Given the description of an element on the screen output the (x, y) to click on. 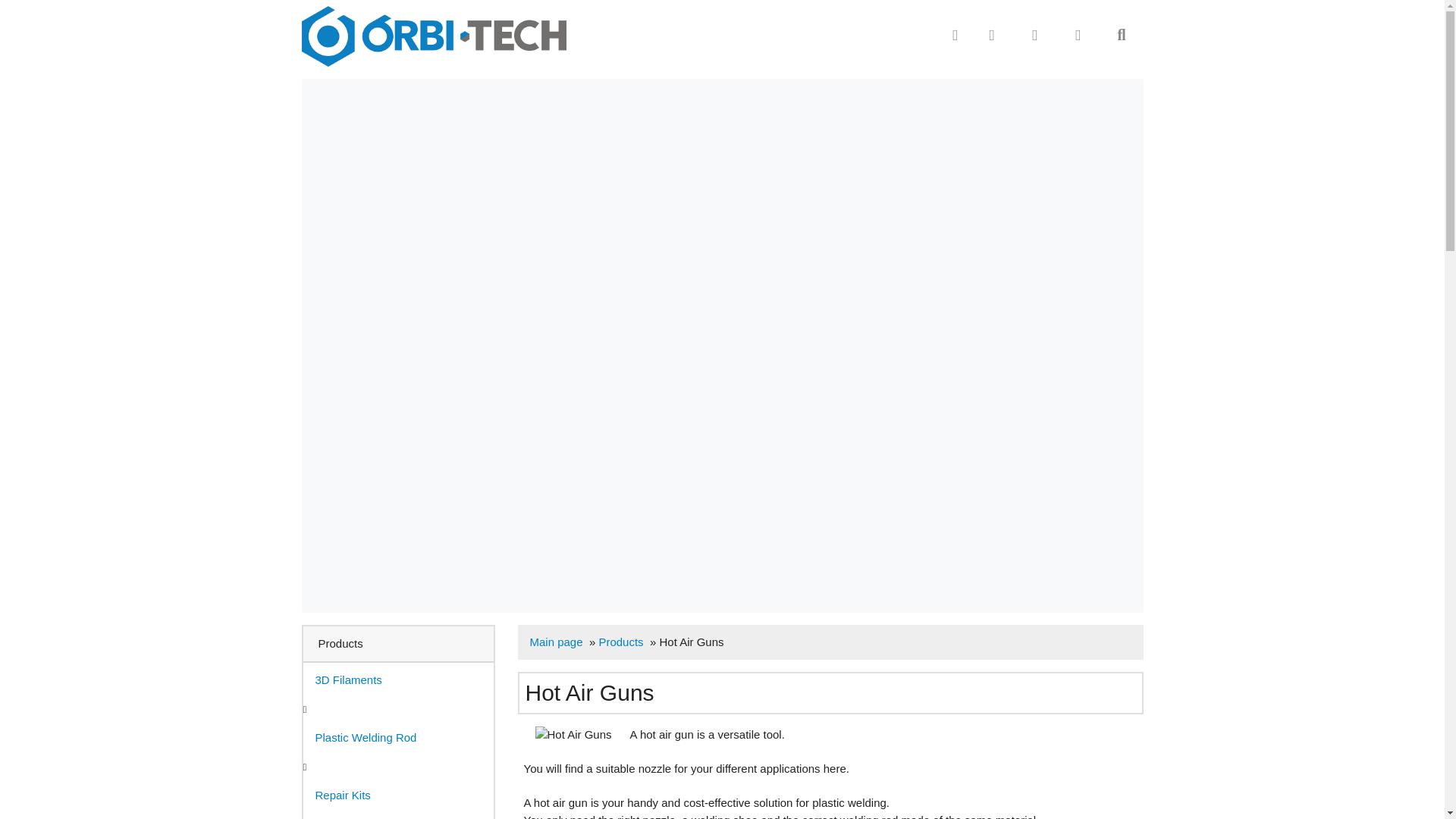
Shopping cart (1078, 35)
Languages (992, 35)
Your account (1035, 35)
Search (1120, 35)
Repair Sticks (397, 816)
Repair Kits (397, 795)
3D Filaments (397, 679)
Plastic Welding Rod (397, 737)
